Given the description of an element on the screen output the (x, y) to click on. 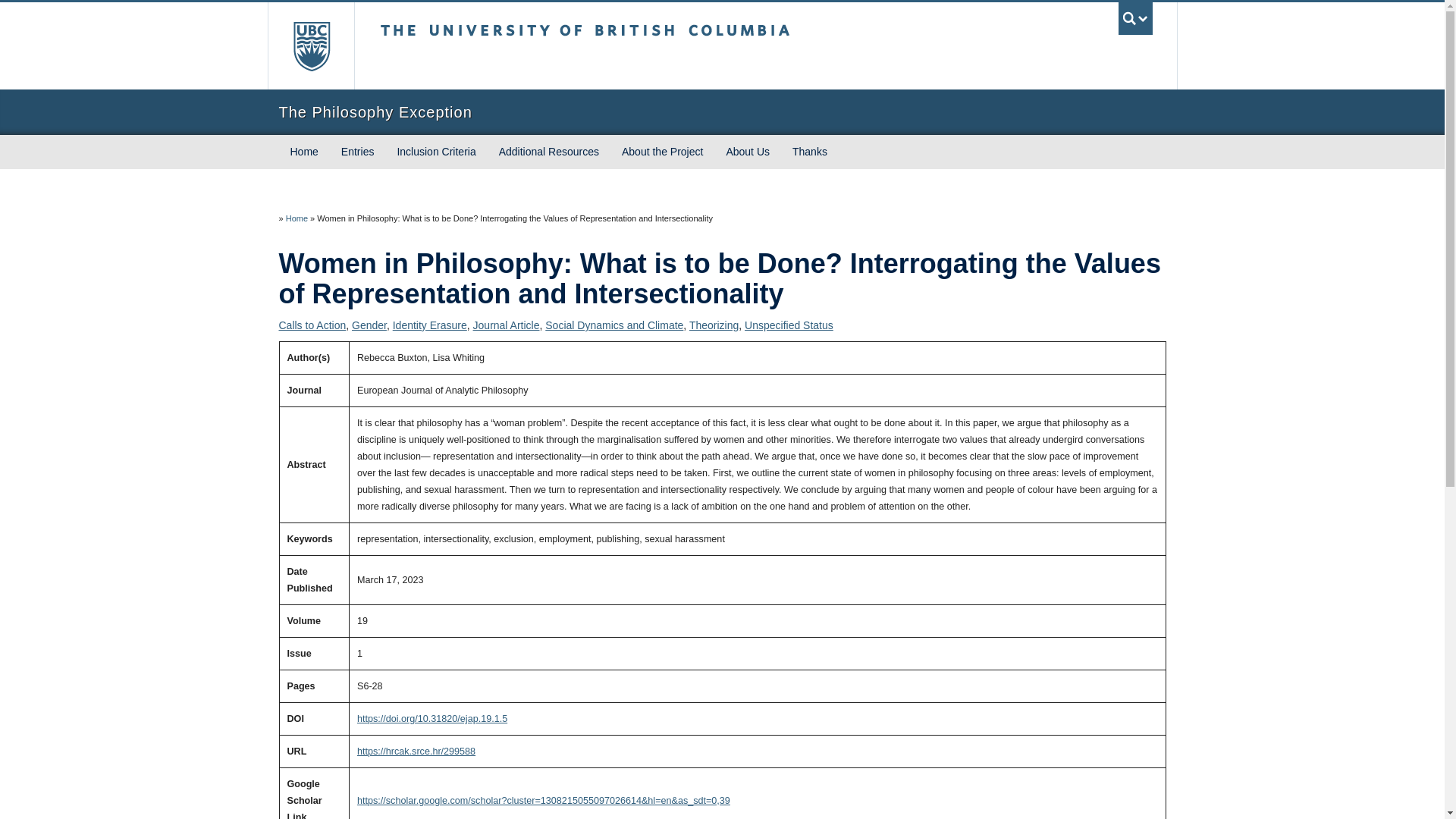
Gender (369, 325)
UBC Search (1135, 18)
The University of British Columbia (635, 45)
Calls to Action (312, 325)
Additional Resources (548, 151)
Identity Erasure (430, 325)
Thanks (809, 151)
Social Dynamics and Climate (613, 325)
Home (304, 151)
Entries (357, 151)
Unspecified Status (788, 325)
About the Project (662, 151)
Inclusion Criteria (435, 151)
The Philosophy Exception (722, 112)
 The Philosophy Exception (722, 112)
